Given the description of an element on the screen output the (x, y) to click on. 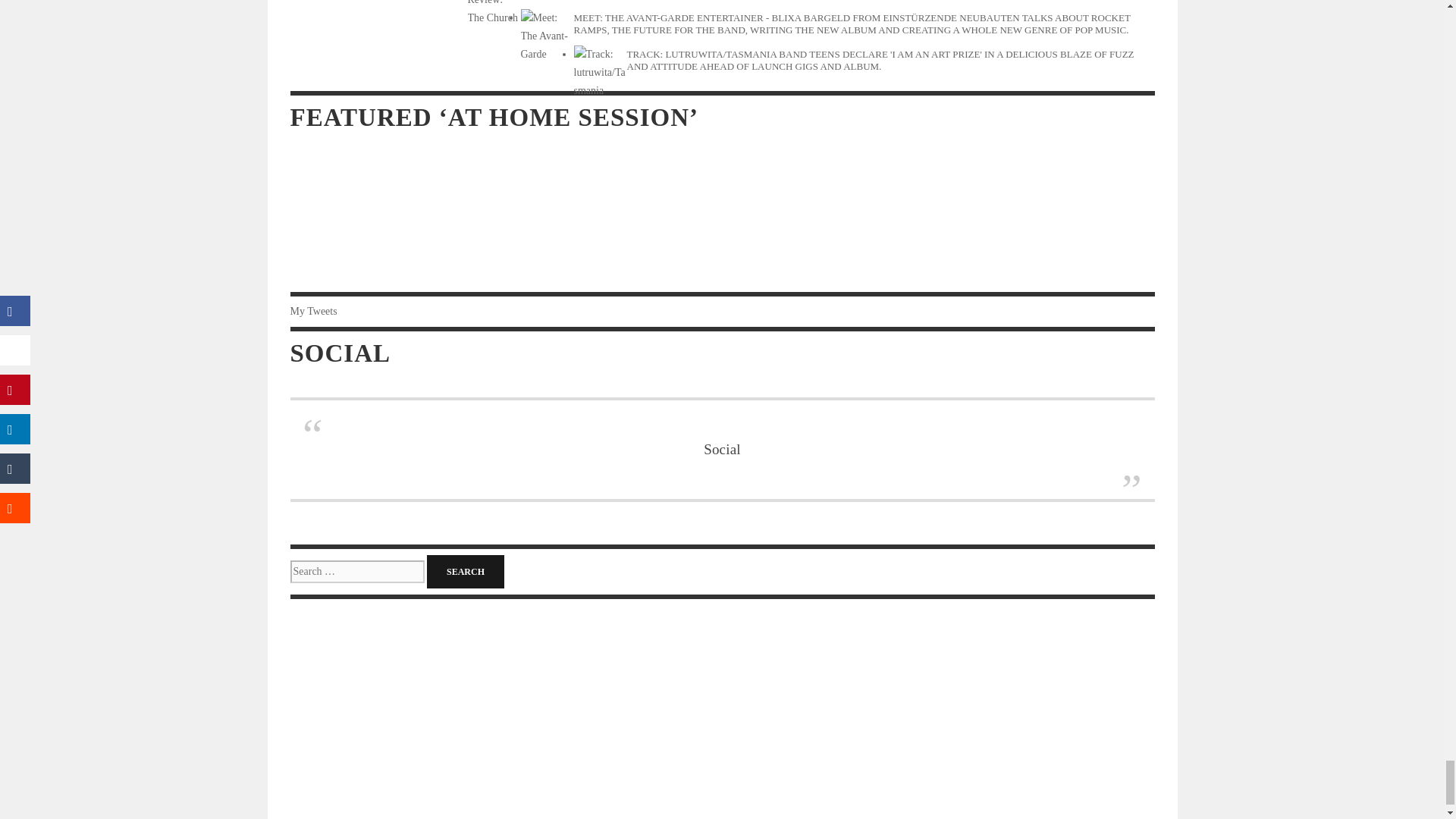
Search (464, 571)
Search (464, 571)
